Given the description of an element on the screen output the (x, y) to click on. 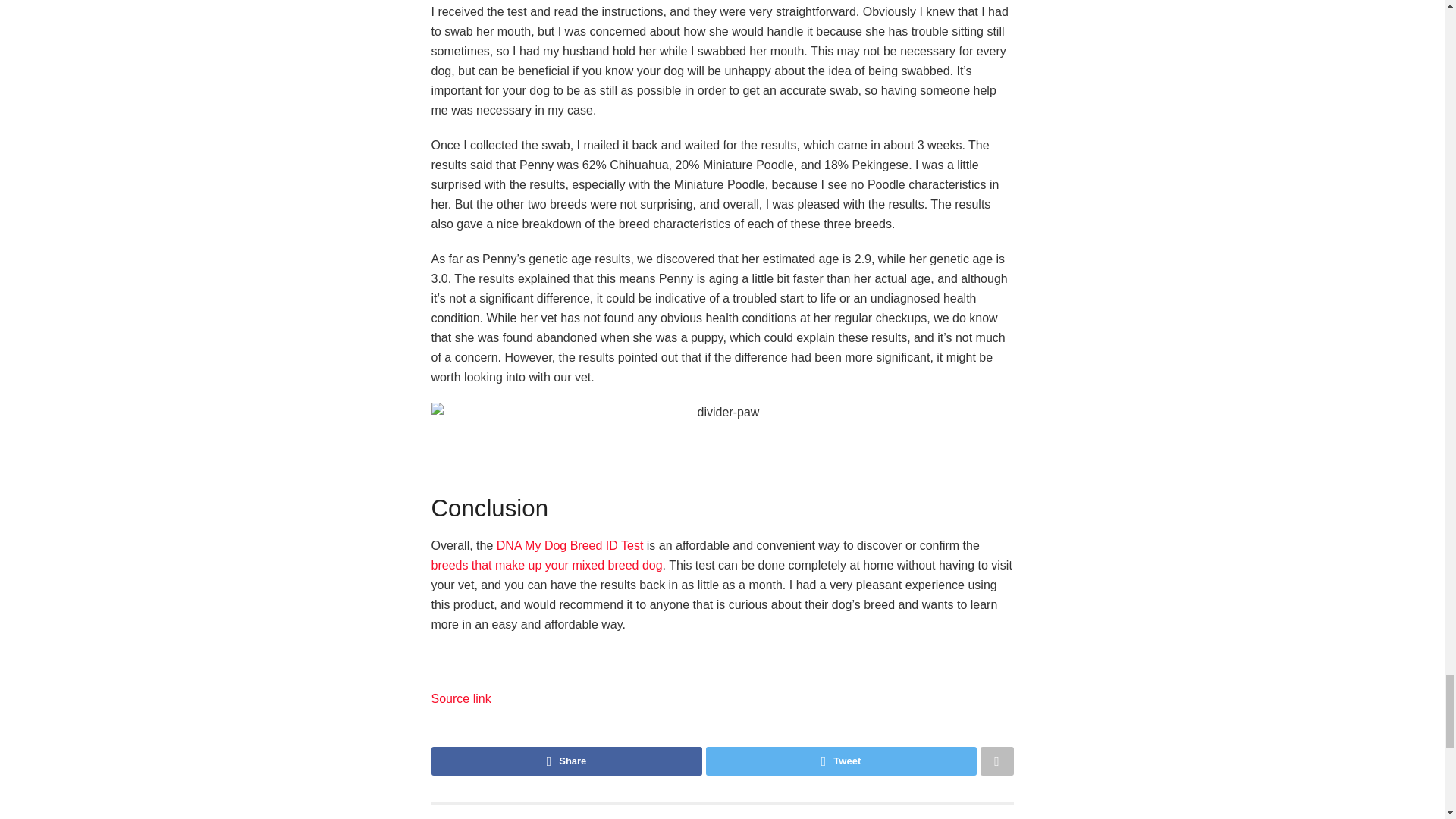
Source link (460, 698)
Share (565, 760)
DNA My Dog Breed ID Test (569, 545)
breeds that make up your mixed breed dog (546, 564)
Tweet (839, 760)
